Given the description of an element on the screen output the (x, y) to click on. 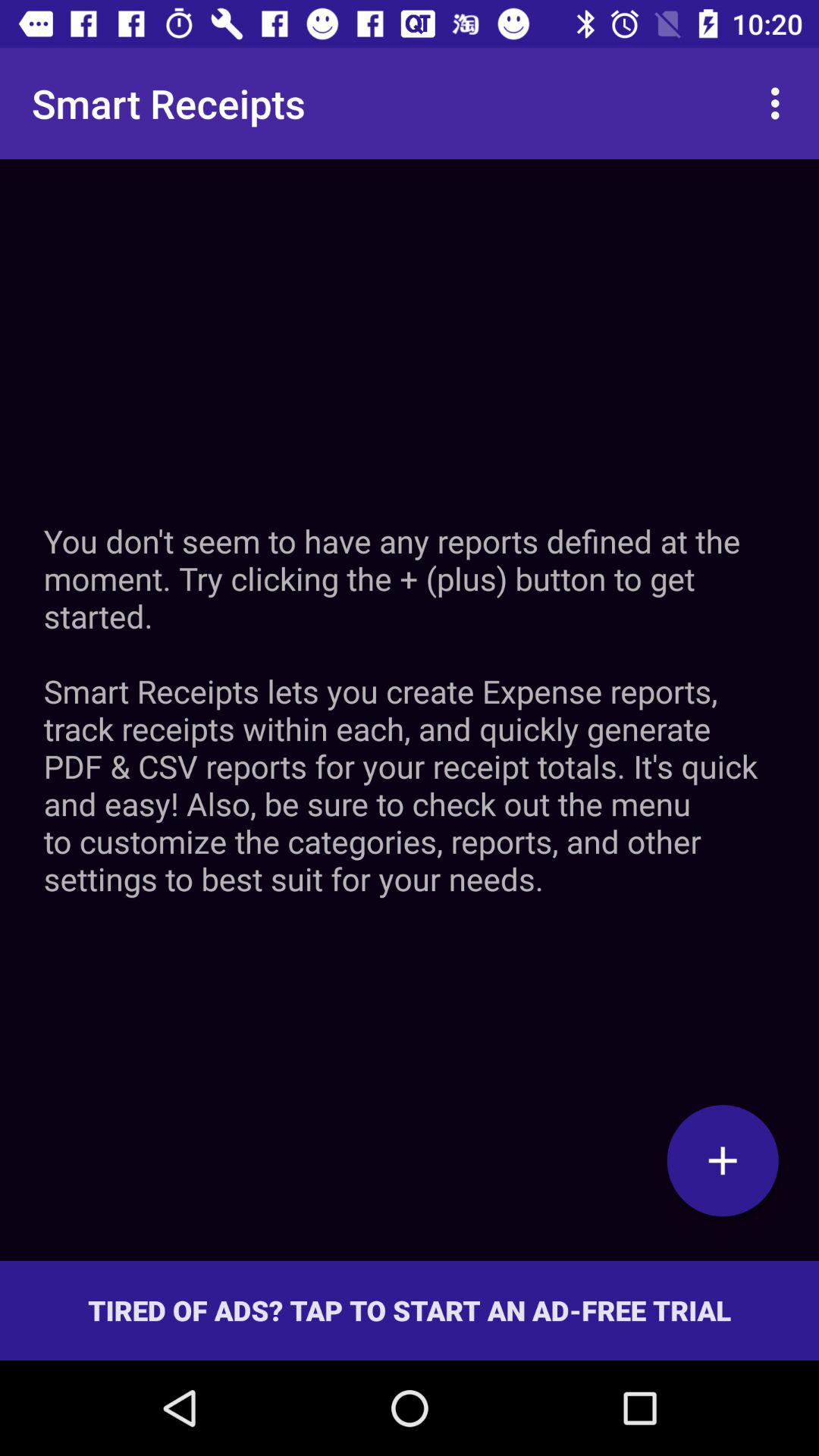
click to add (722, 1160)
